Given the description of an element on the screen output the (x, y) to click on. 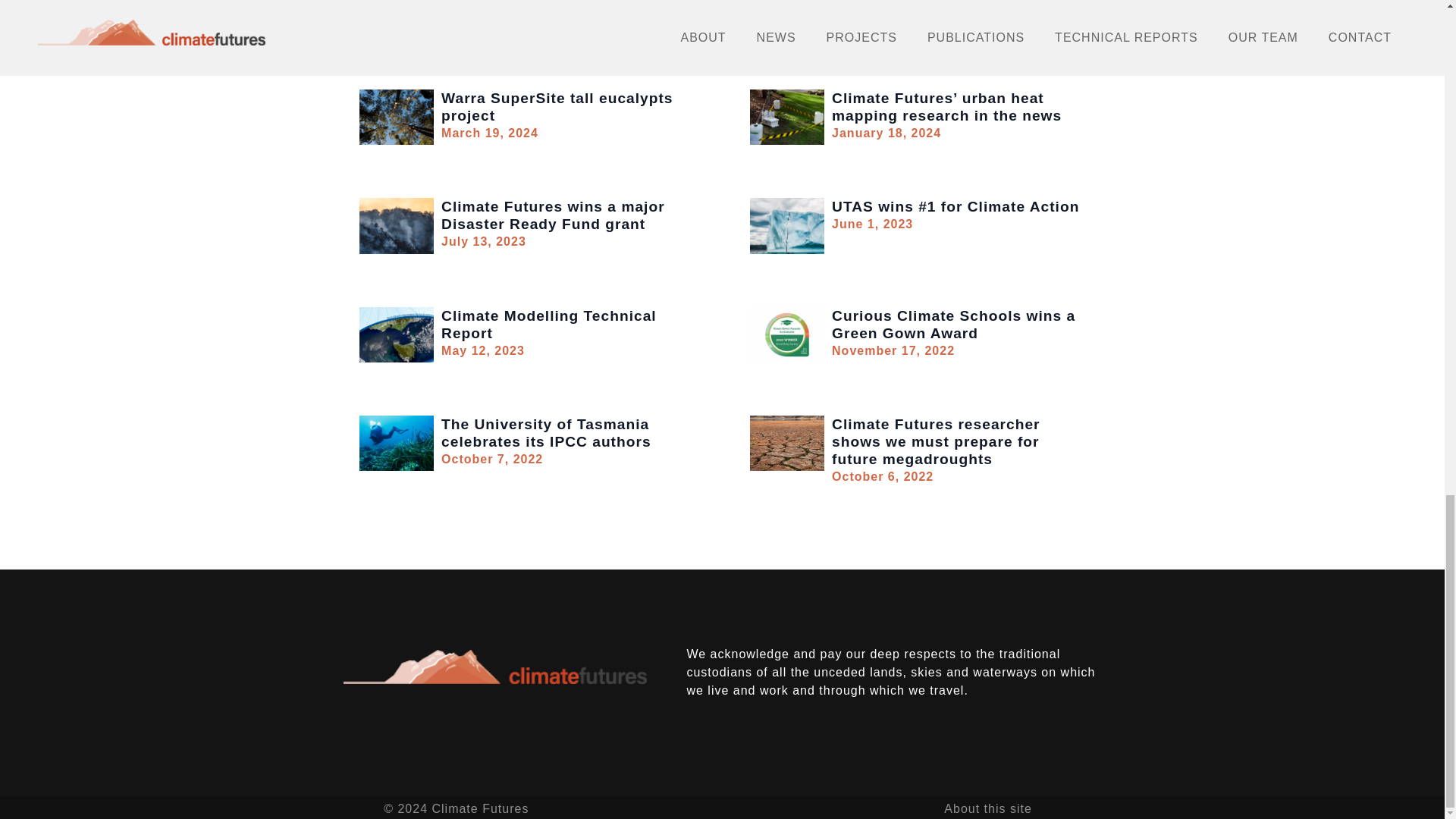
About this site (526, 116)
